Given the description of an element on the screen output the (x, y) to click on. 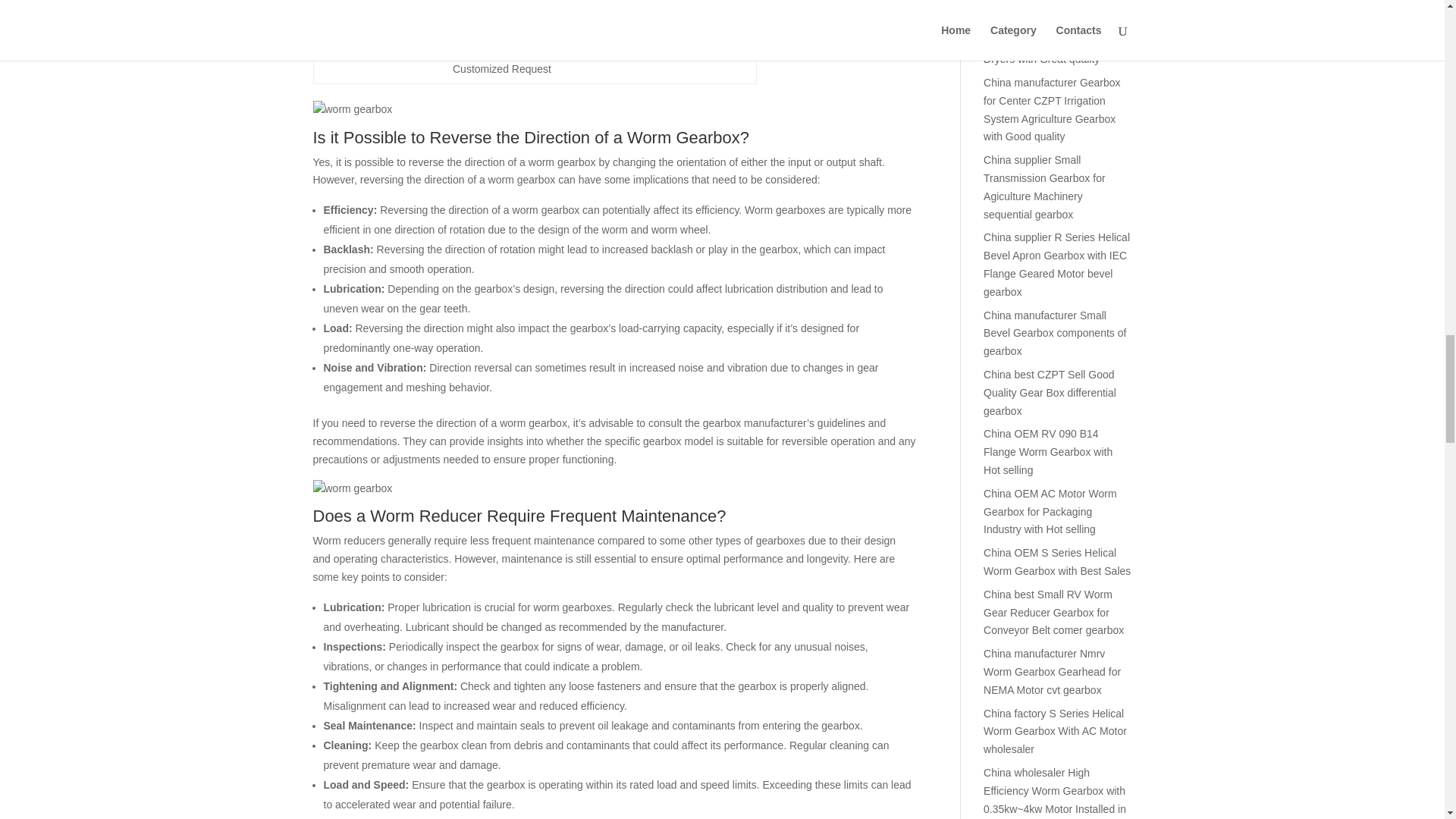
China OEM RV 090 B14 Flange Worm Gearbox with Hot selling (1048, 451)
China OEM S Series Helical Worm Gearbox with Best Sales (1057, 562)
China manufacturer Small Bevel Gearbox components of gearbox (1054, 333)
